Given the description of an element on the screen output the (x, y) to click on. 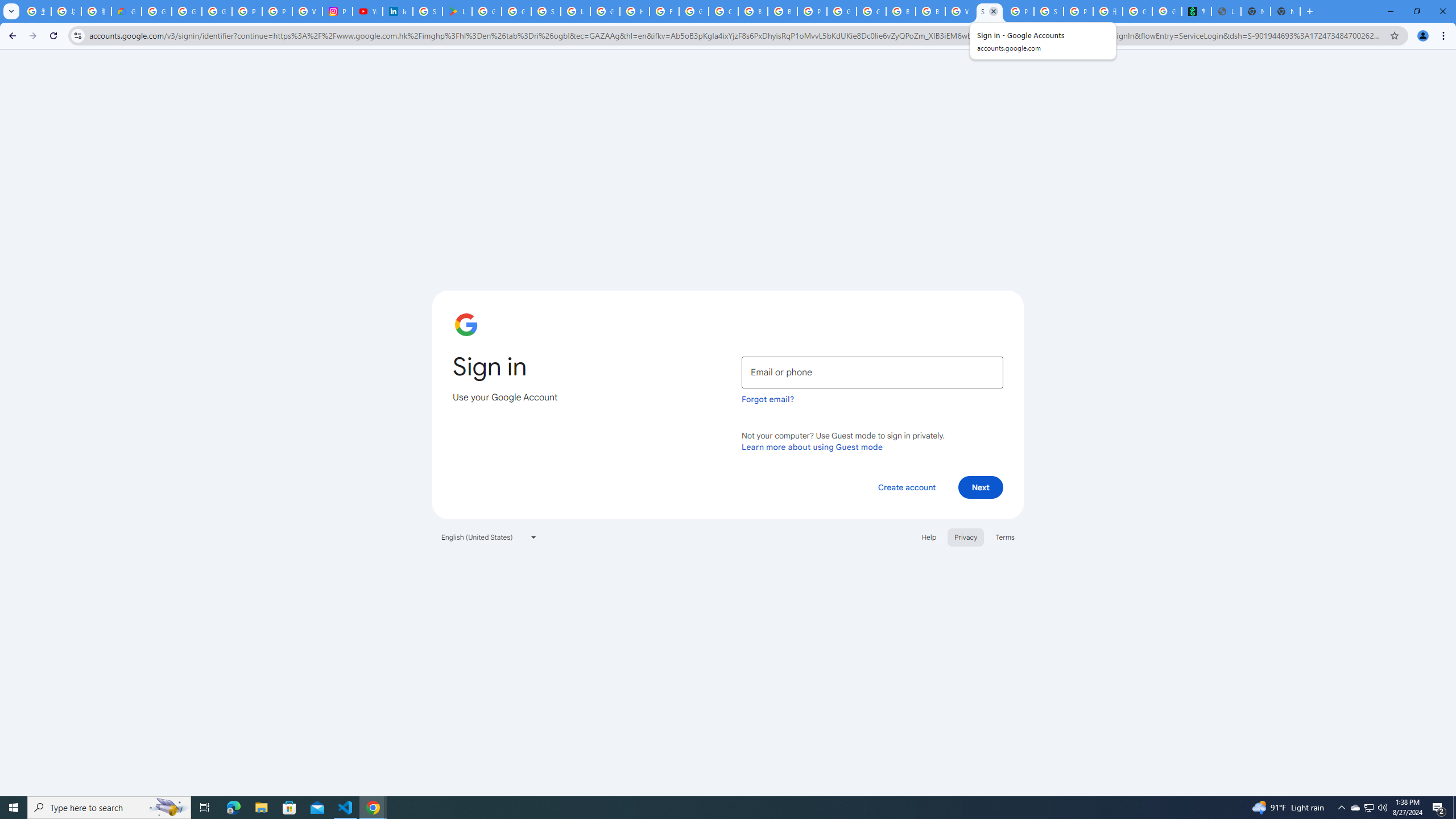
Browse Chrome as a guest - Computer - Google Chrome Help (900, 11)
Create account (905, 486)
New Tab (1284, 11)
Privacy Help Center - Policies Help (277, 11)
Untitled (1226, 11)
